Given the description of an element on the screen output the (x, y) to click on. 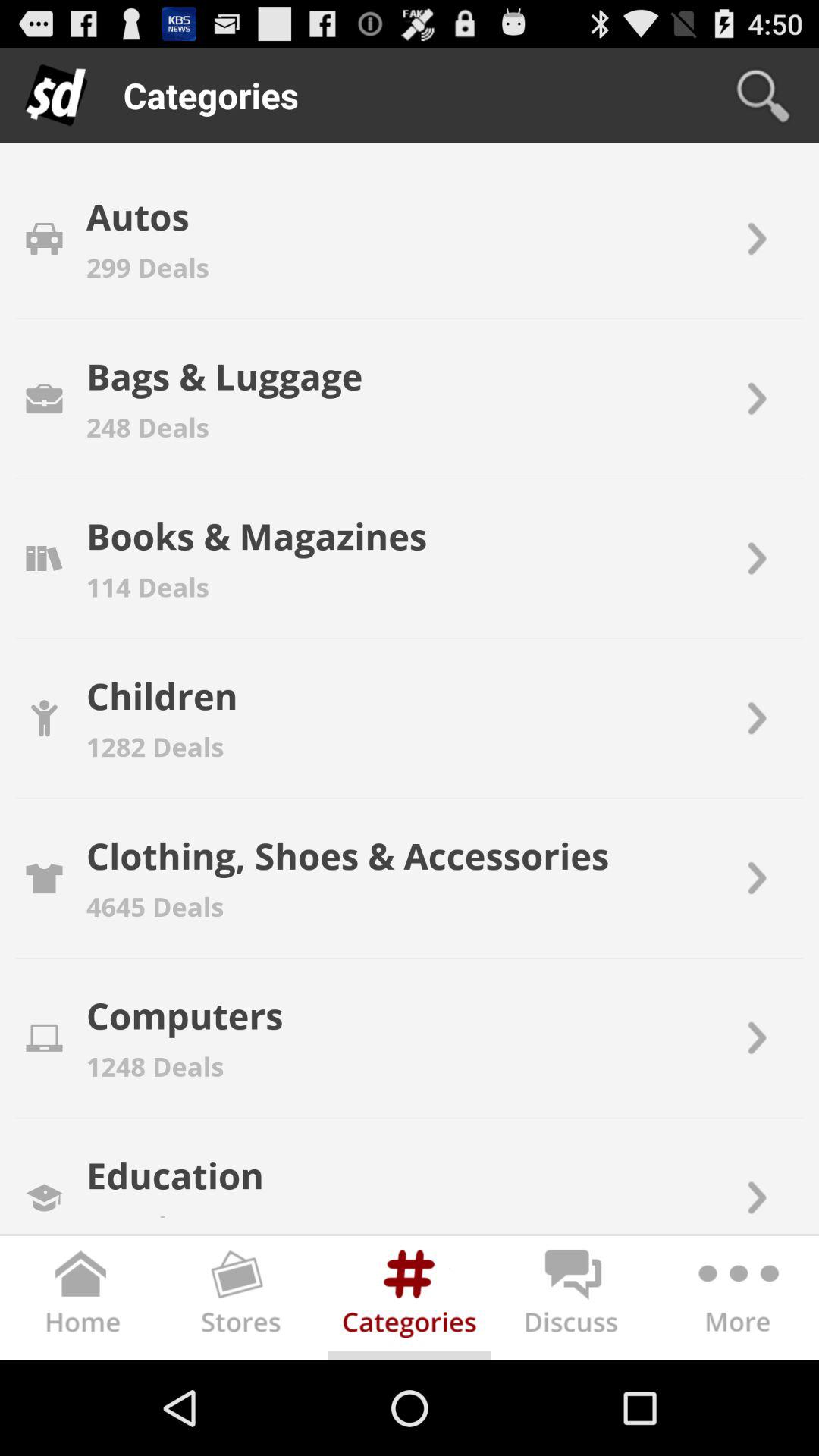
jump to the children item (161, 695)
